Given the description of an element on the screen output the (x, y) to click on. 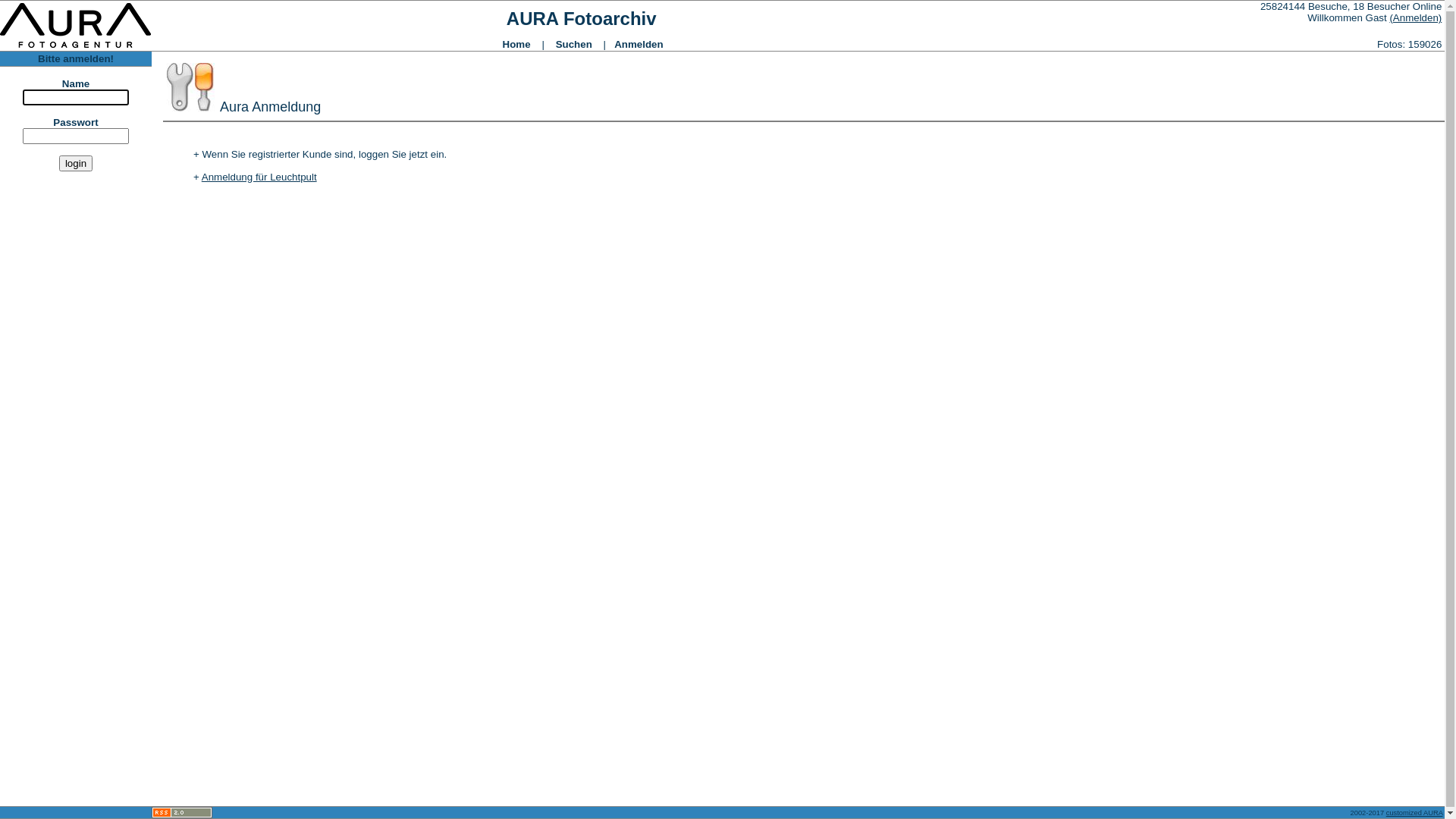
Suchen Element type: text (573, 44)
Anmelden Element type: text (638, 44)
(Anmelden) Element type: text (1415, 17)
Home Element type: text (516, 44)
customized AURA Element type: text (1414, 811)
login Element type: text (75, 163)
